Given the description of an element on the screen output the (x, y) to click on. 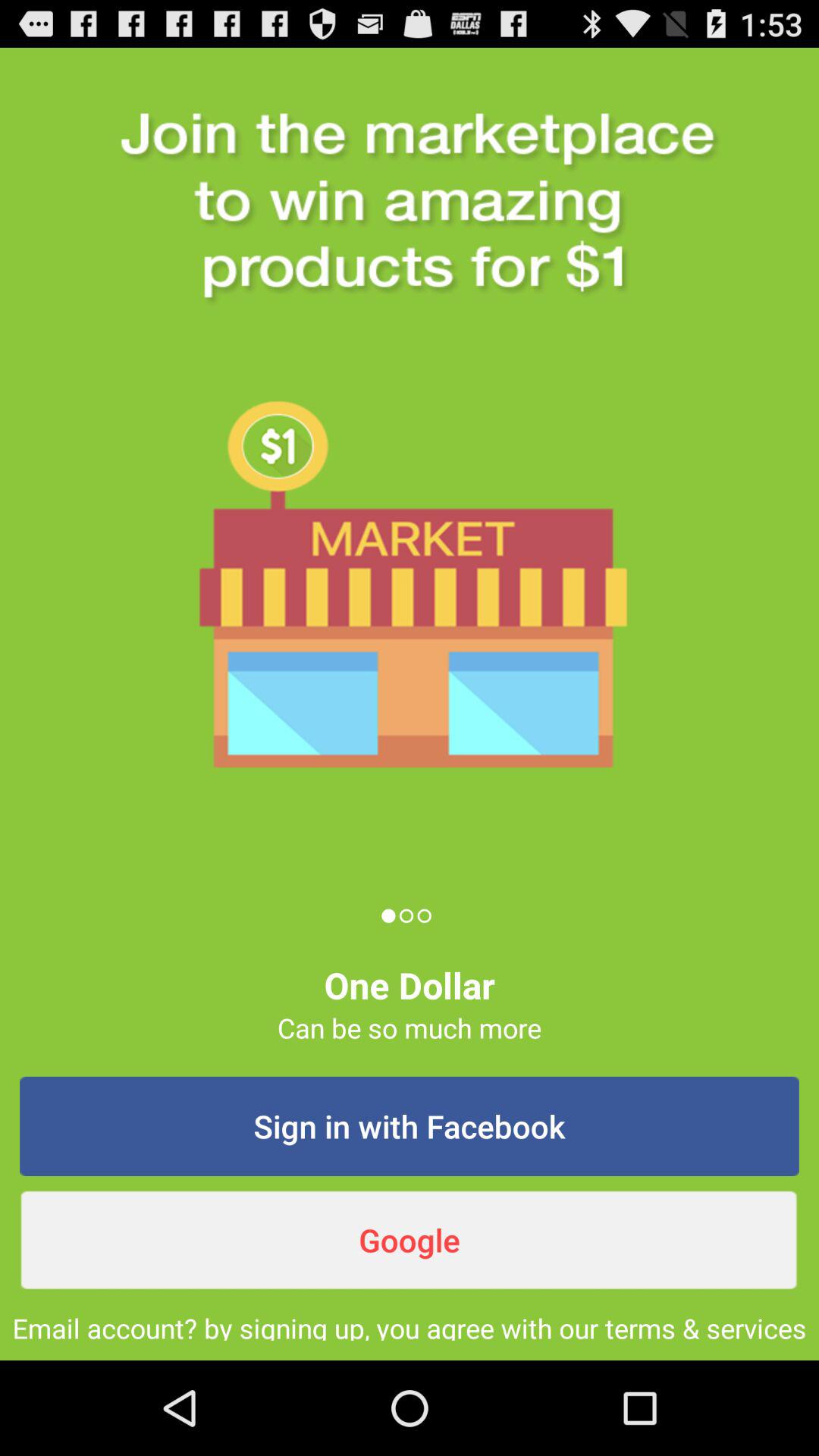
flip to the email account by icon (409, 1324)
